Given the description of an element on the screen output the (x, y) to click on. 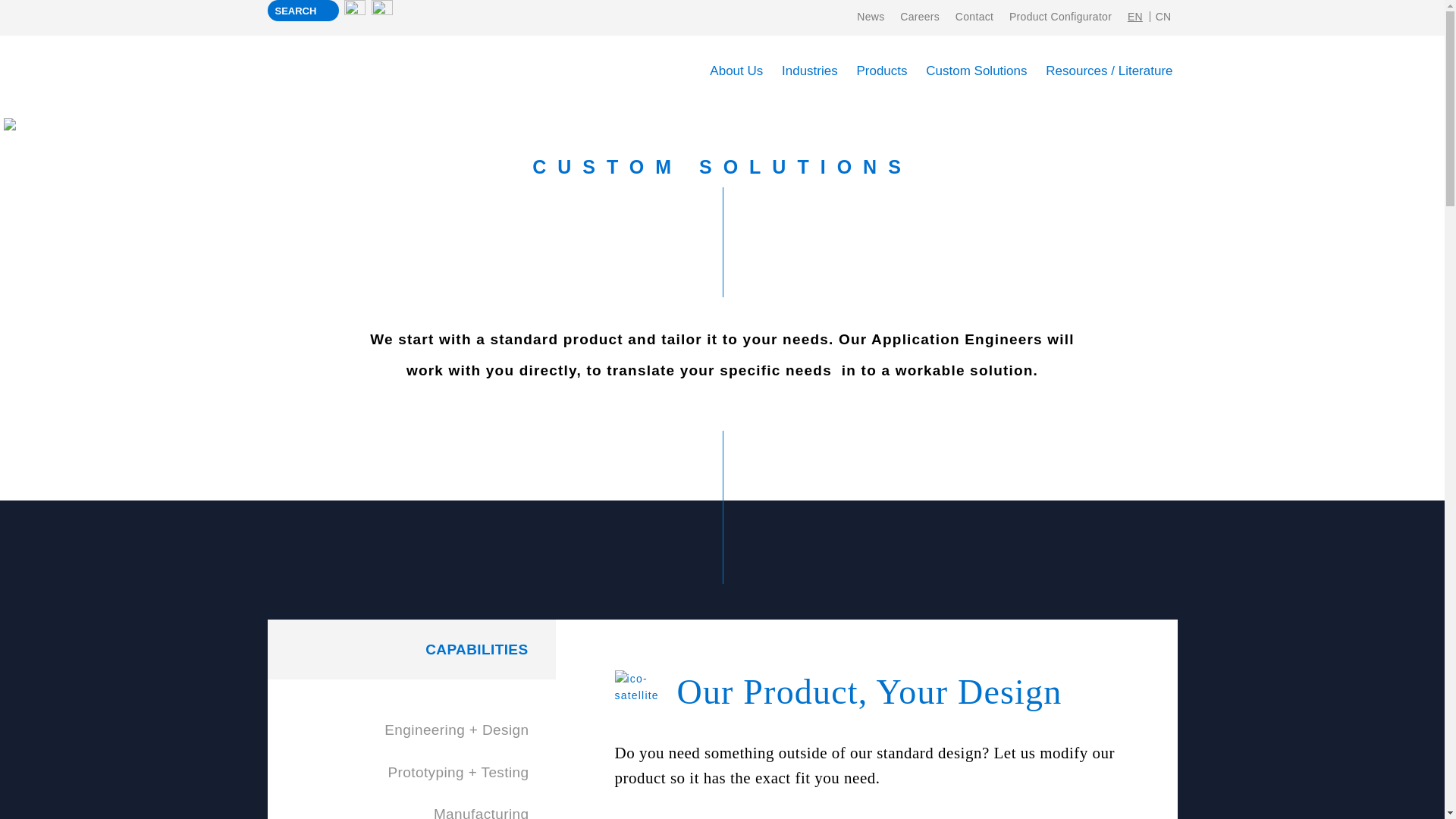
Custom Solutions (975, 70)
Cone Drive (371, 72)
Industries (810, 70)
Careers (918, 16)
EN (1136, 16)
Contact (973, 16)
Manufacturing (410, 806)
About Us (735, 70)
News (869, 16)
SEARCH (301, 10)
